Given the description of an element on the screen output the (x, y) to click on. 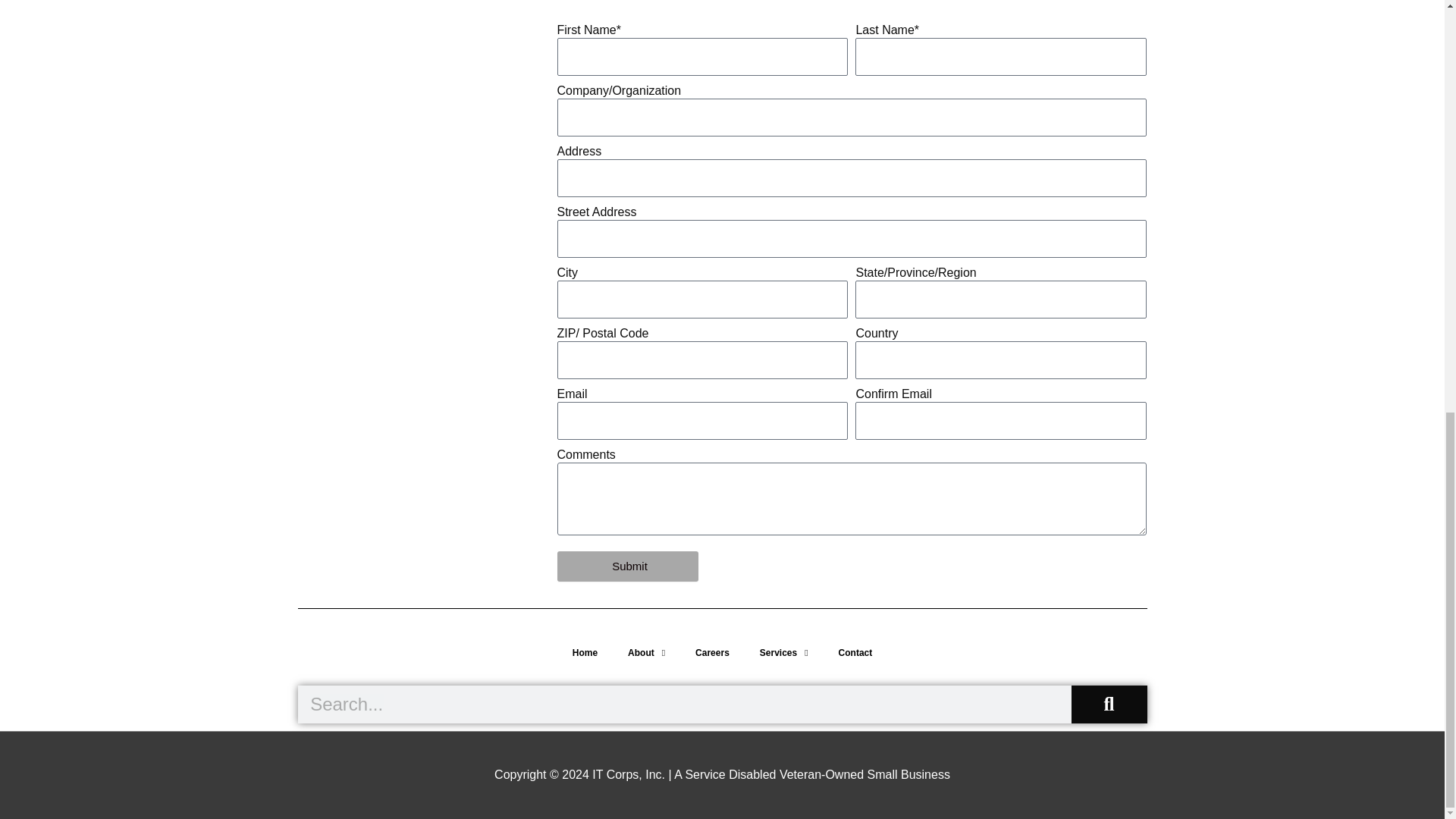
Search (683, 704)
Submit (627, 566)
Home (584, 652)
About (645, 652)
Search (1108, 704)
